Given the description of an element on the screen output the (x, y) to click on. 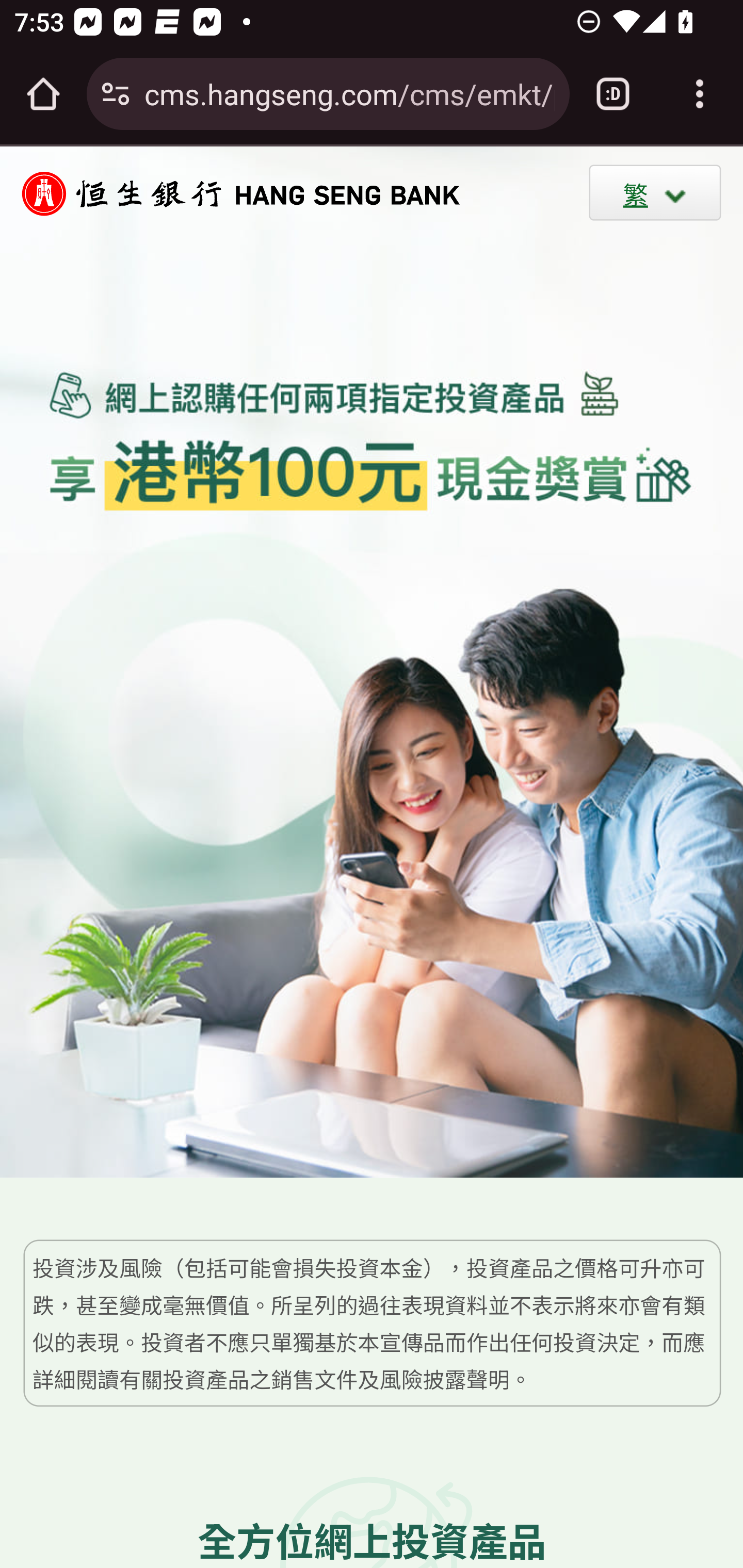
Open the home page (43, 93)
Connection is secure (115, 93)
Switch or close tabs (612, 93)
Customize and control Google Chrome (699, 93)
恒生銀行 Hang Sang Bank (231, 193)
繁  繁    (655, 192)
